Given the description of an element on the screen output the (x, y) to click on. 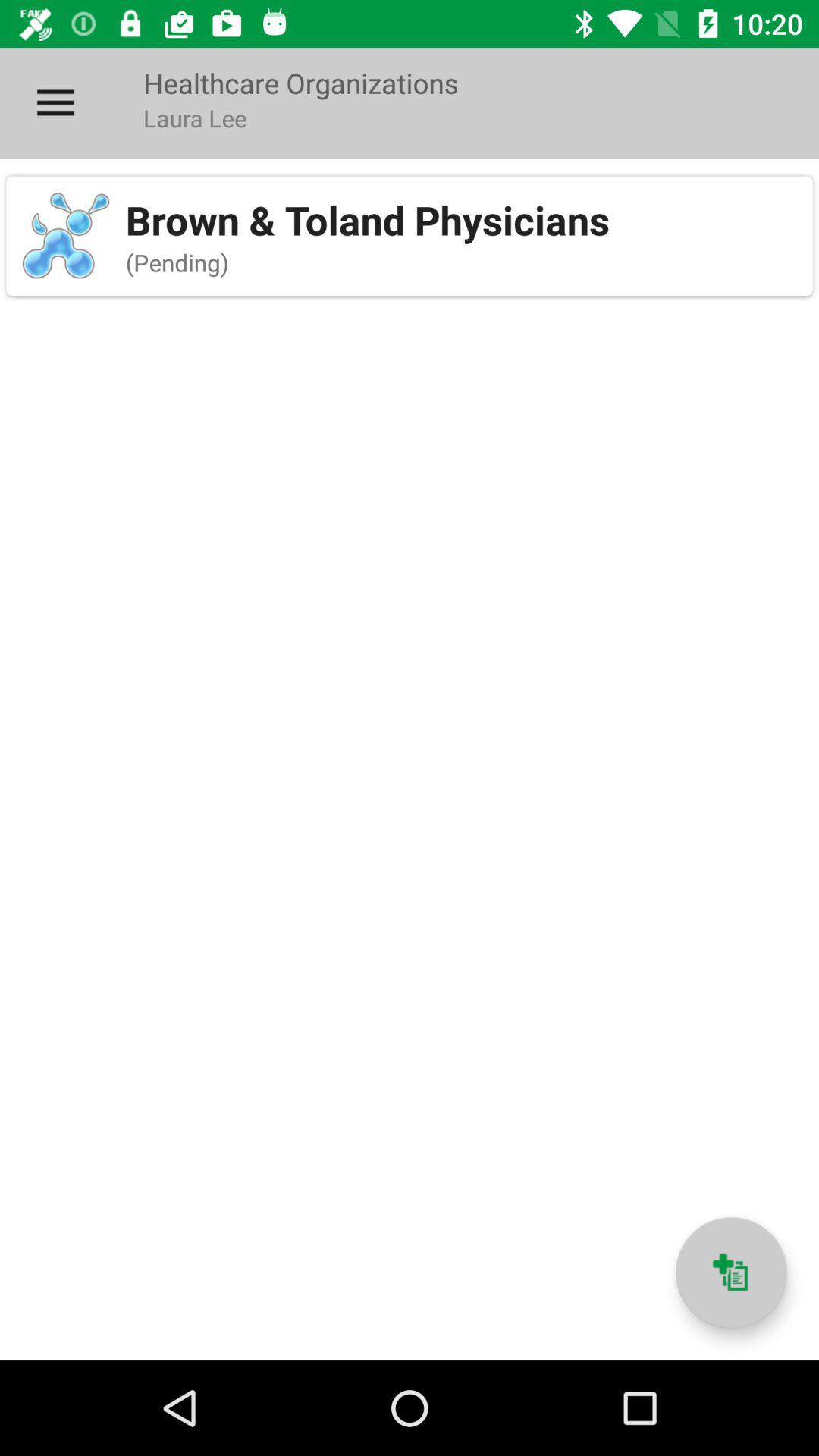
turn off the icon to the left of the healthcare organizations item (55, 103)
